Given the description of an element on the screen output the (x, y) to click on. 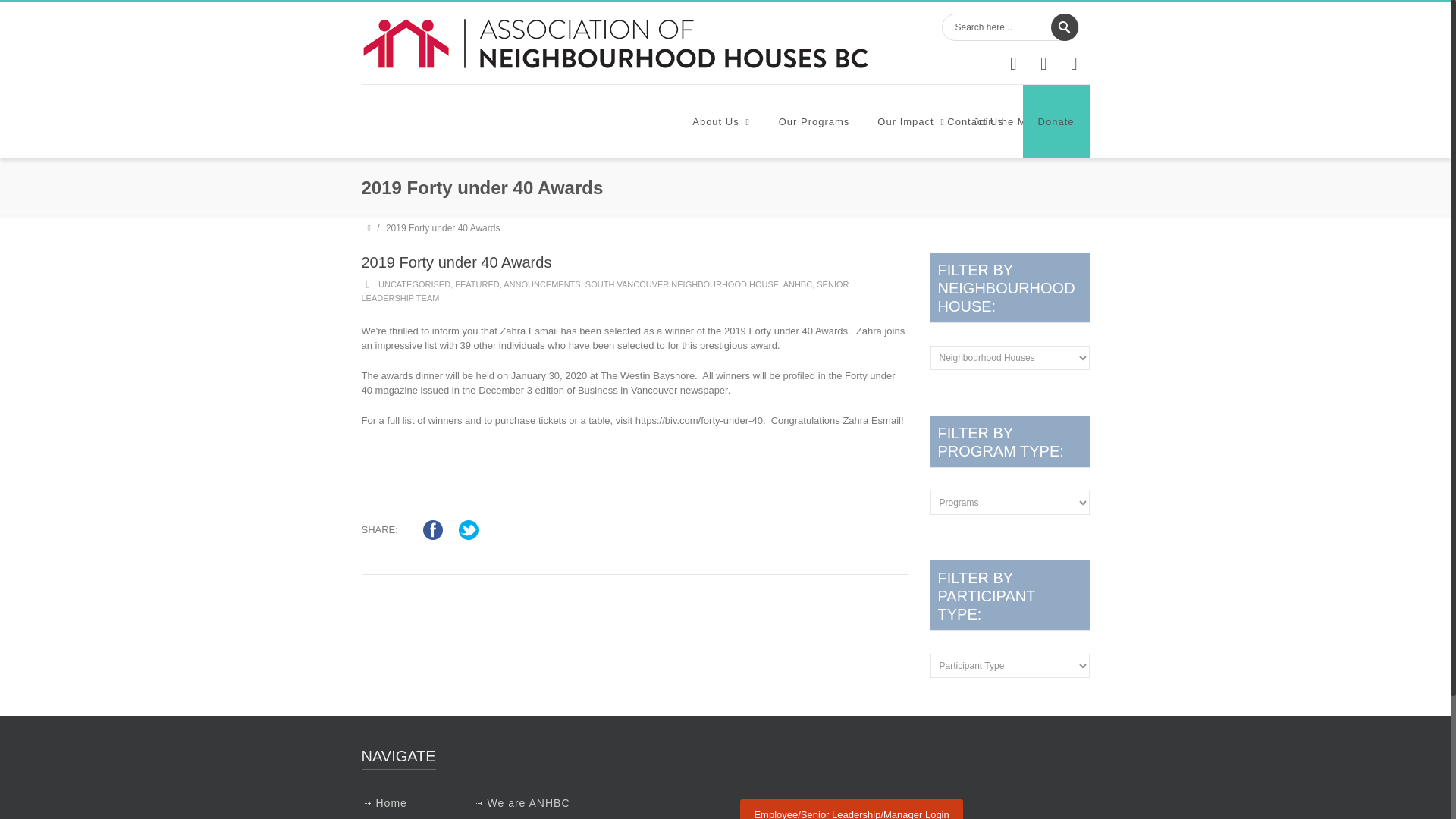
Association of Neighbourhood Houses of British Columbia (614, 42)
Tweet on Twitter (468, 529)
submit (1064, 26)
Our Programs (814, 121)
Join the Movement (1027, 121)
Donate (1056, 121)
submit (1064, 26)
Contact Us (974, 121)
Share on Facebook (432, 529)
About Us (720, 121)
